Given the description of an element on the screen output the (x, y) to click on. 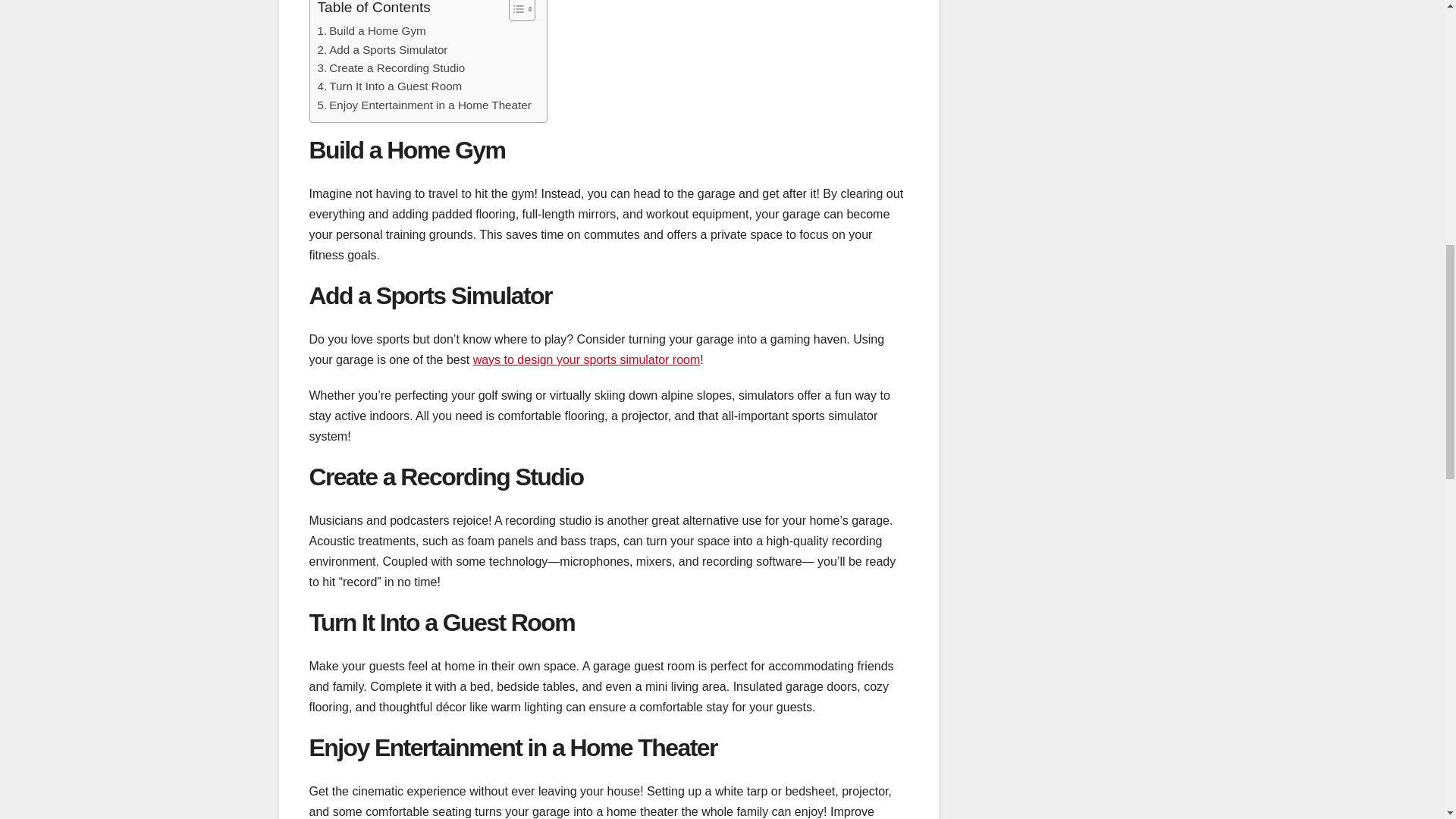
Enjoy Entertainment in a Home Theater (424, 105)
ways to design your sports simulator room (586, 359)
Build a Home Gym (371, 31)
Build a Home Gym (371, 31)
Add a Sports Simulator (381, 49)
Create a Recording Studio (390, 67)
Turn It Into a Guest Room (389, 85)
Turn It Into a Guest Room (389, 85)
Add a Sports Simulator (381, 49)
Enjoy Entertainment in a Home Theater (424, 105)
